Given the description of an element on the screen output the (x, y) to click on. 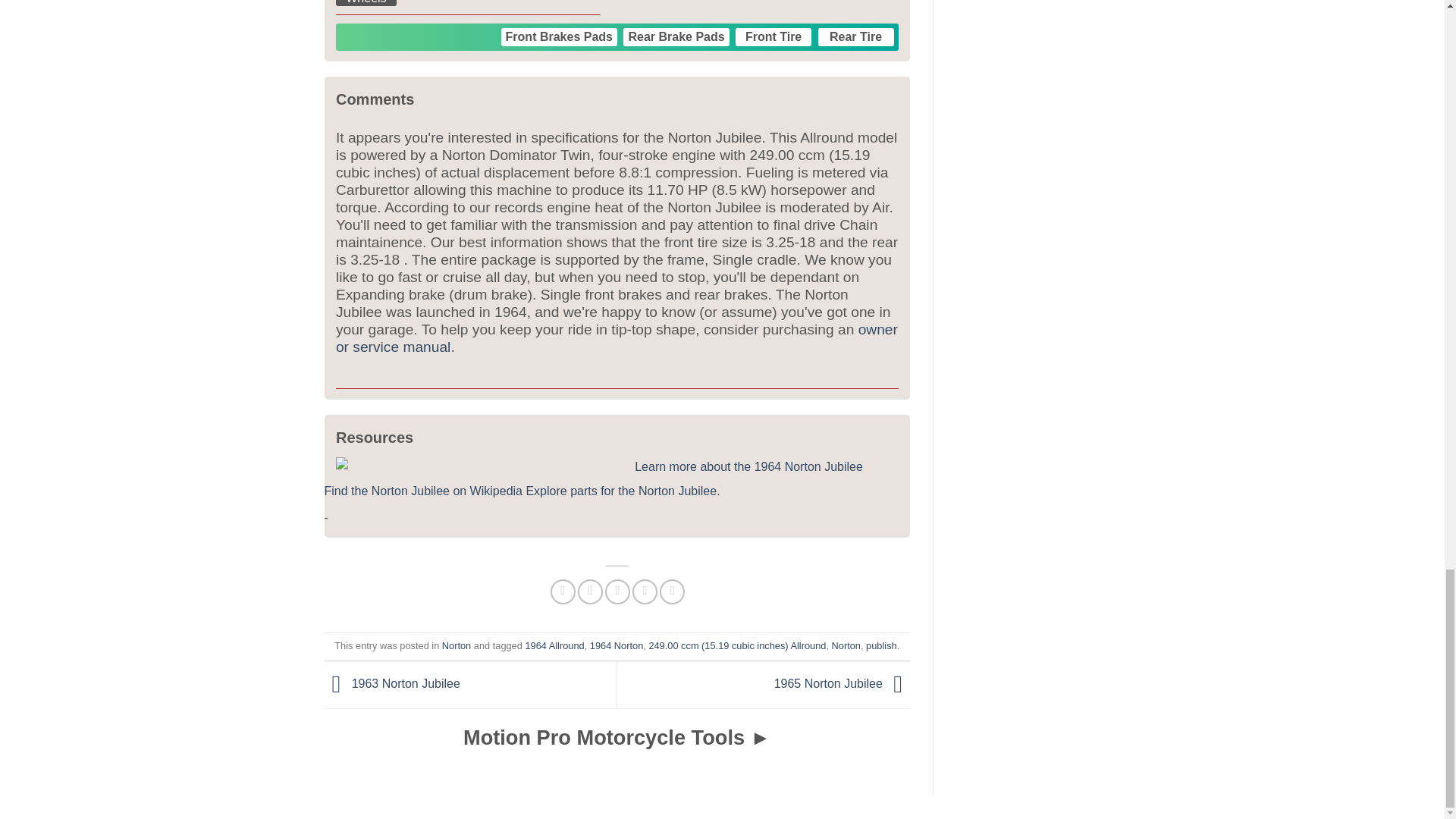
Norton (456, 645)
Rear Tire (855, 36)
Rear Brake Pads (676, 36)
Learn more about the 1964 Norton Jubilee (748, 466)
Email to a Friend (617, 591)
owner or service manual (617, 337)
Find the Norton Jubilee on Wikipedia (423, 490)
Front Tire (772, 36)
Explore parts for the Norton Jubilee. (622, 490)
Explore parts for the Norton Jubilee. (622, 490)
